Given the description of an element on the screen output the (x, y) to click on. 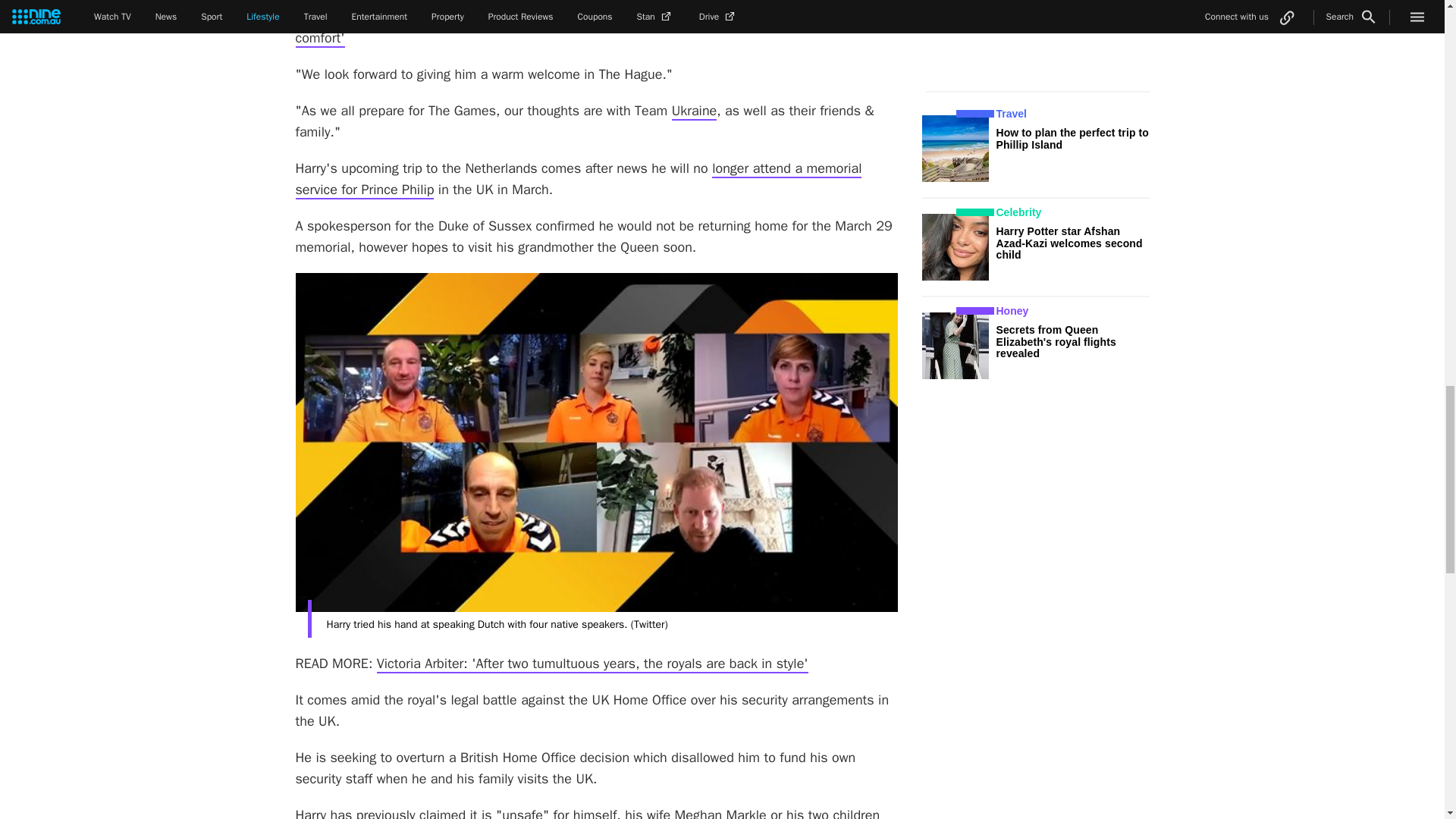
longer attend a memorial service for Prince Philip (578, 179)
